Given the description of an element on the screen output the (x, y) to click on. 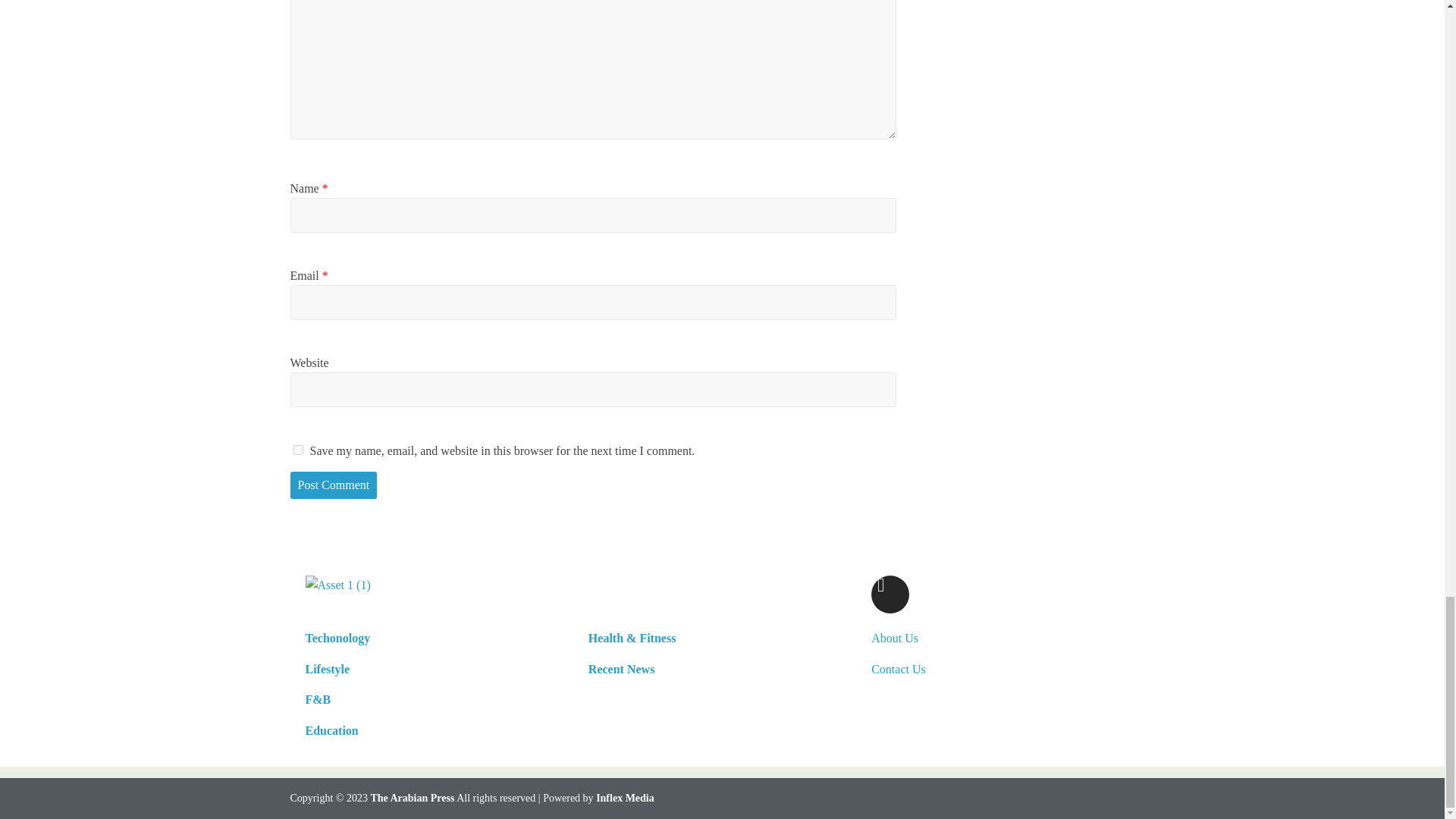
yes (297, 450)
Post Comment (333, 484)
